Given the description of an element on the screen output the (x, y) to click on. 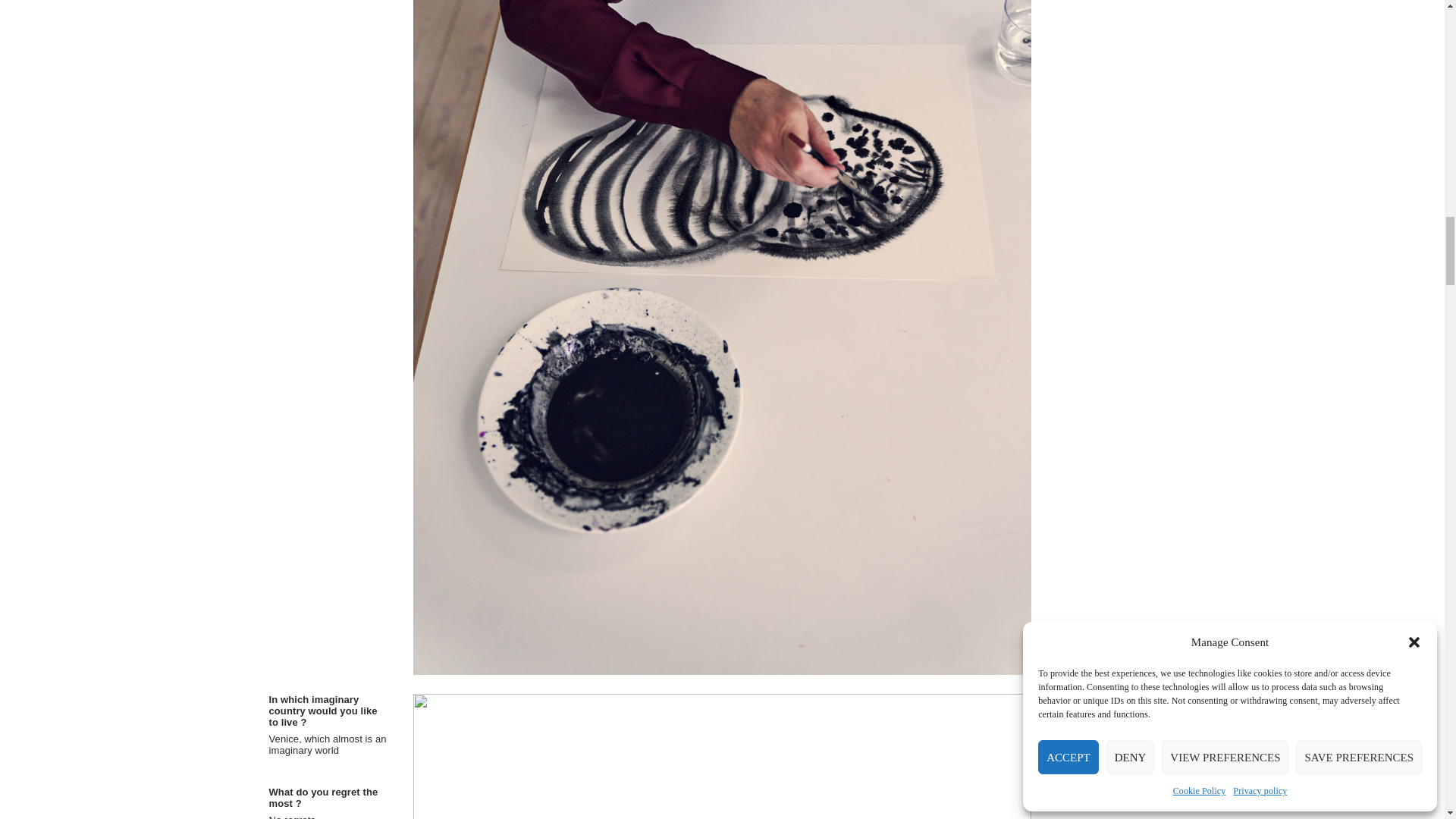
Ann W (722, 756)
